Given the description of an element on the screen output the (x, y) to click on. 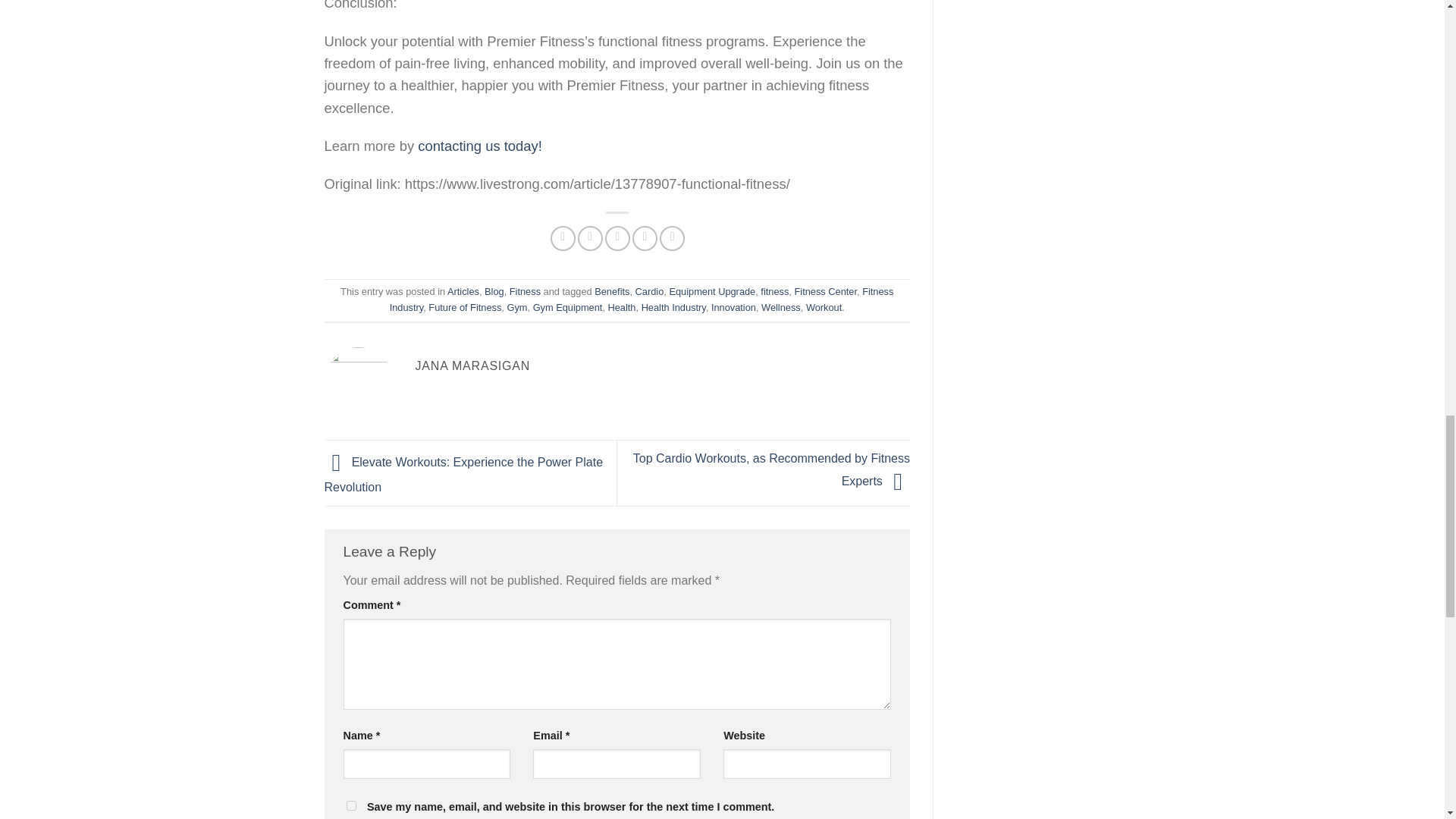
Pin on Pinterest (644, 238)
yes (350, 805)
Share on Facebook (562, 238)
Share on LinkedIn (671, 238)
Email to a Friend (617, 238)
Share on Twitter (590, 238)
